Given the description of an element on the screen output the (x, y) to click on. 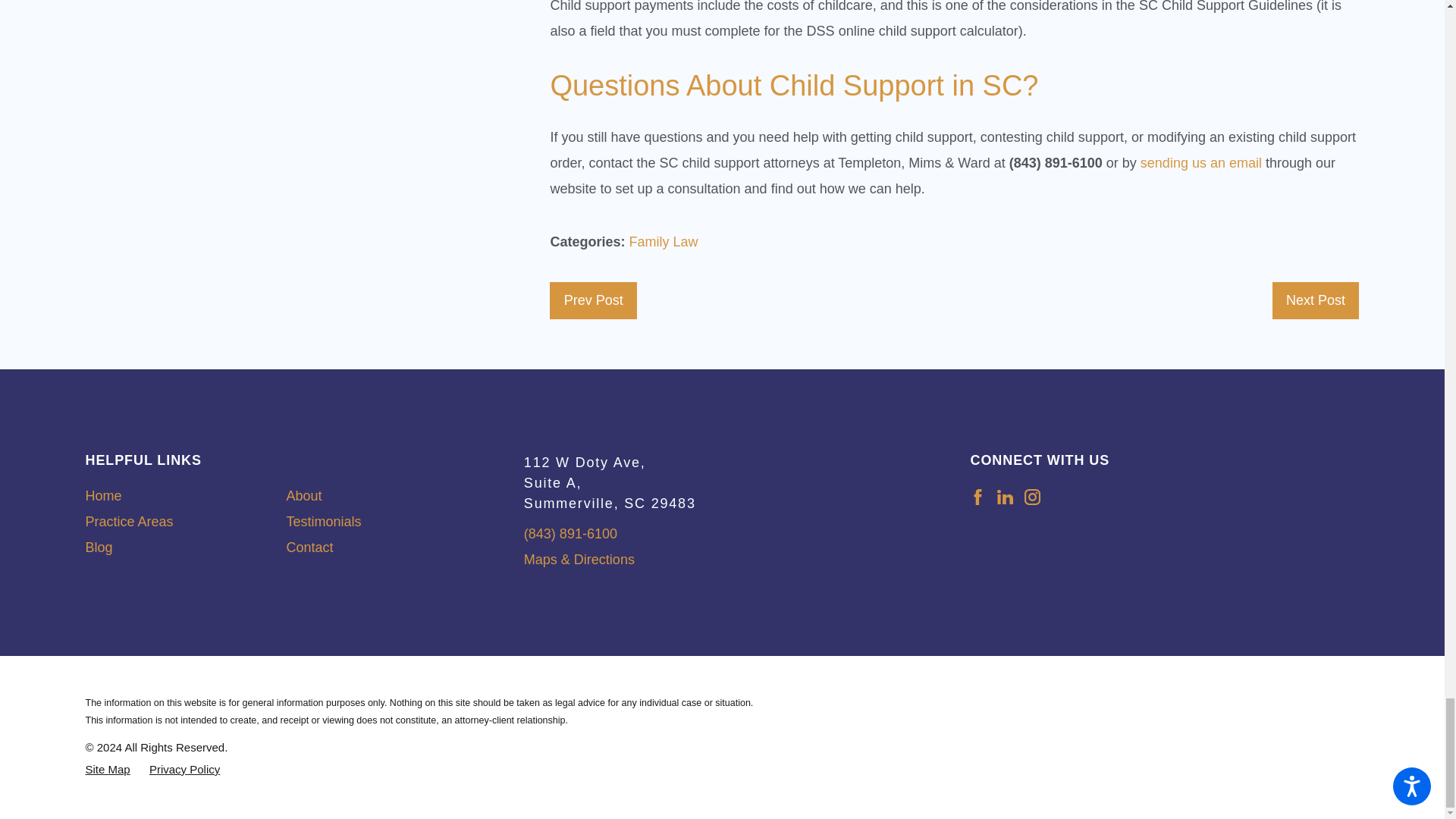
Facebook (977, 496)
Instagram (1033, 496)
LinkedIn (1005, 496)
